Given the description of an element on the screen output the (x, y) to click on. 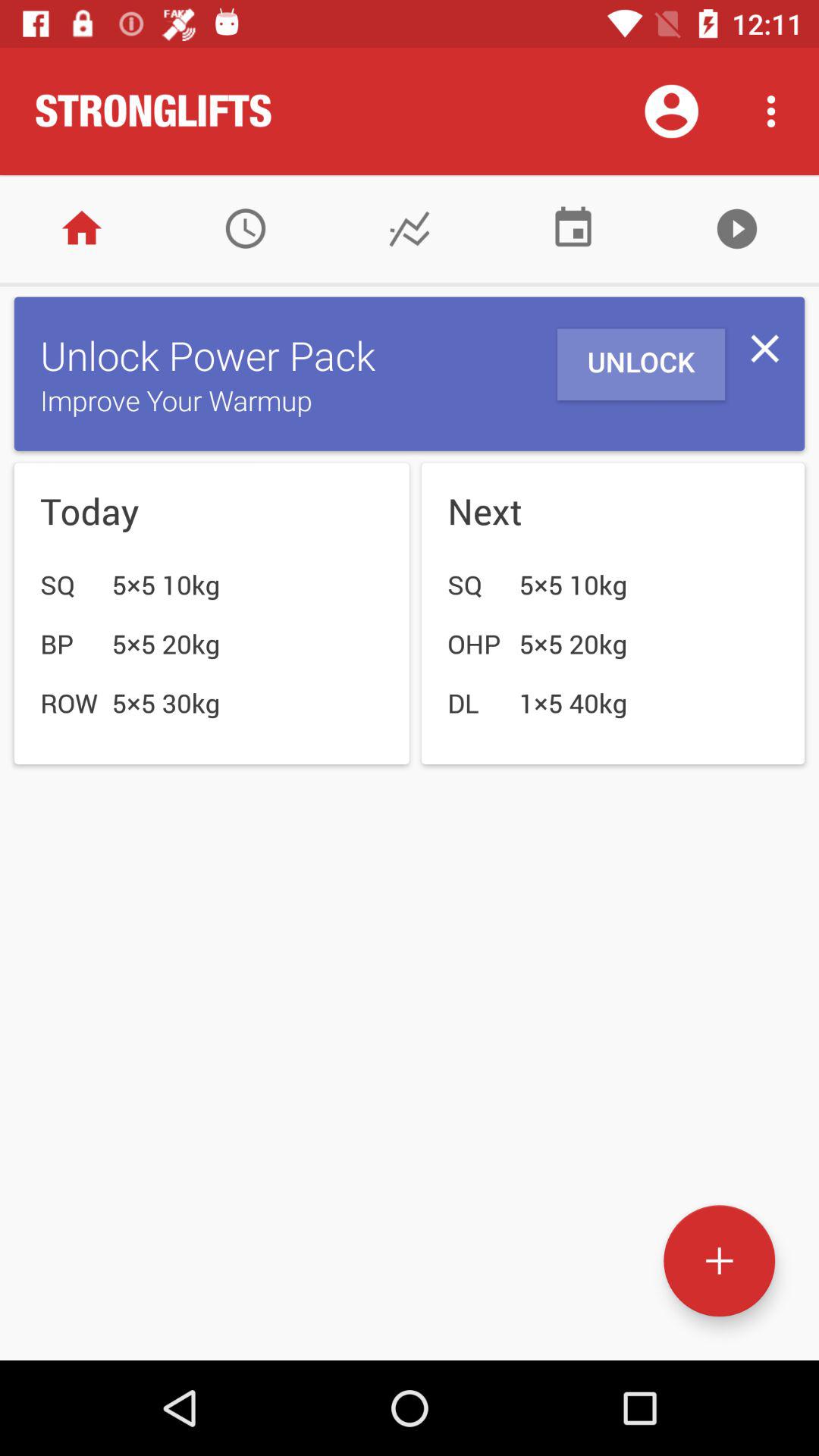
add work out (719, 1260)
